Given the description of an element on the screen output the (x, y) to click on. 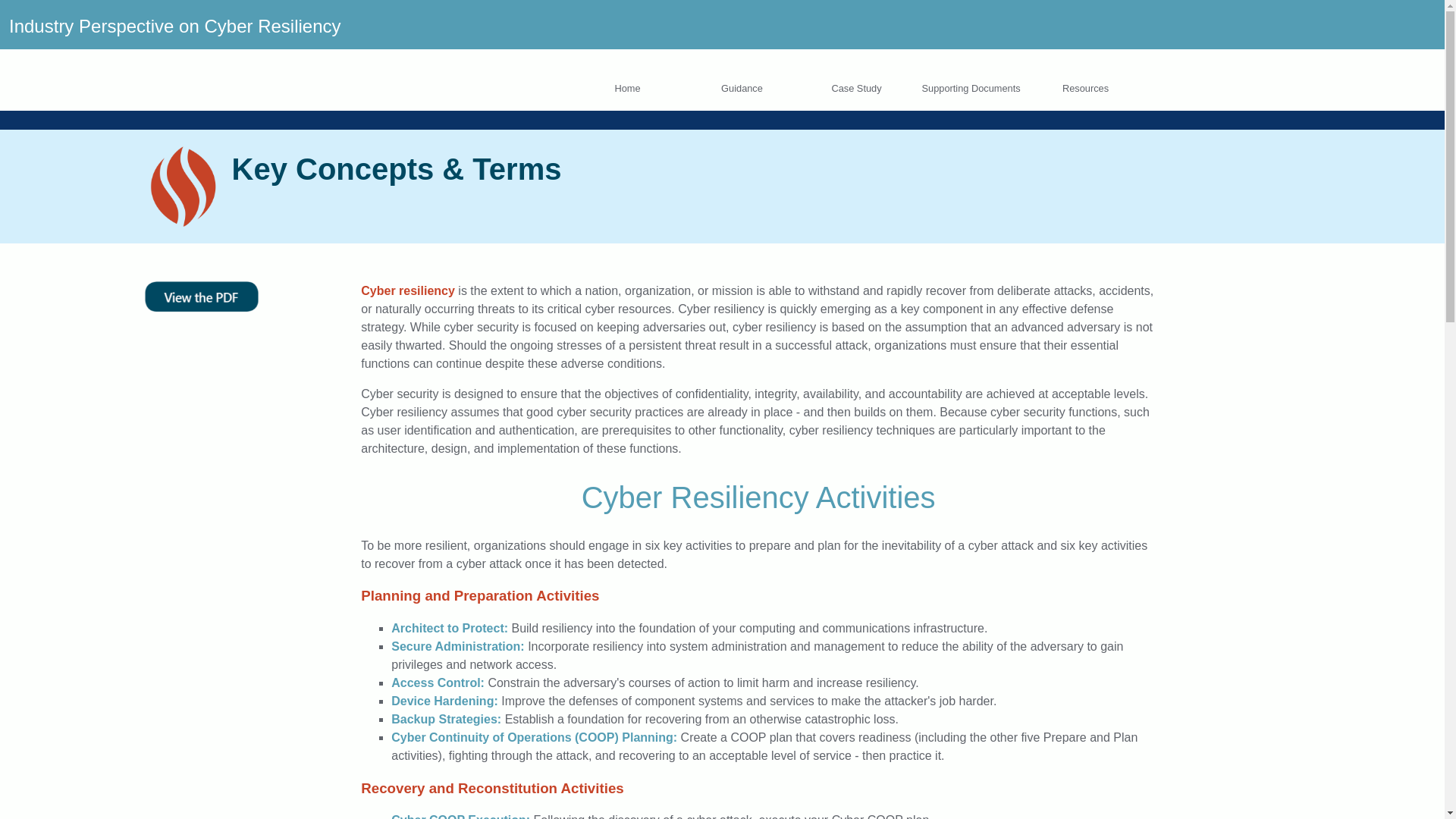
Architect to Protect: (449, 627)
Backup Strategies: (445, 718)
Case Study (855, 88)
Secure Administration: (457, 645)
Key Concepts and Terms (200, 307)
Guidance (742, 88)
Resources (1084, 88)
Home (174, 25)
Supporting Documents (970, 88)
Device Hardening: (444, 700)
